Given the description of an element on the screen output the (x, y) to click on. 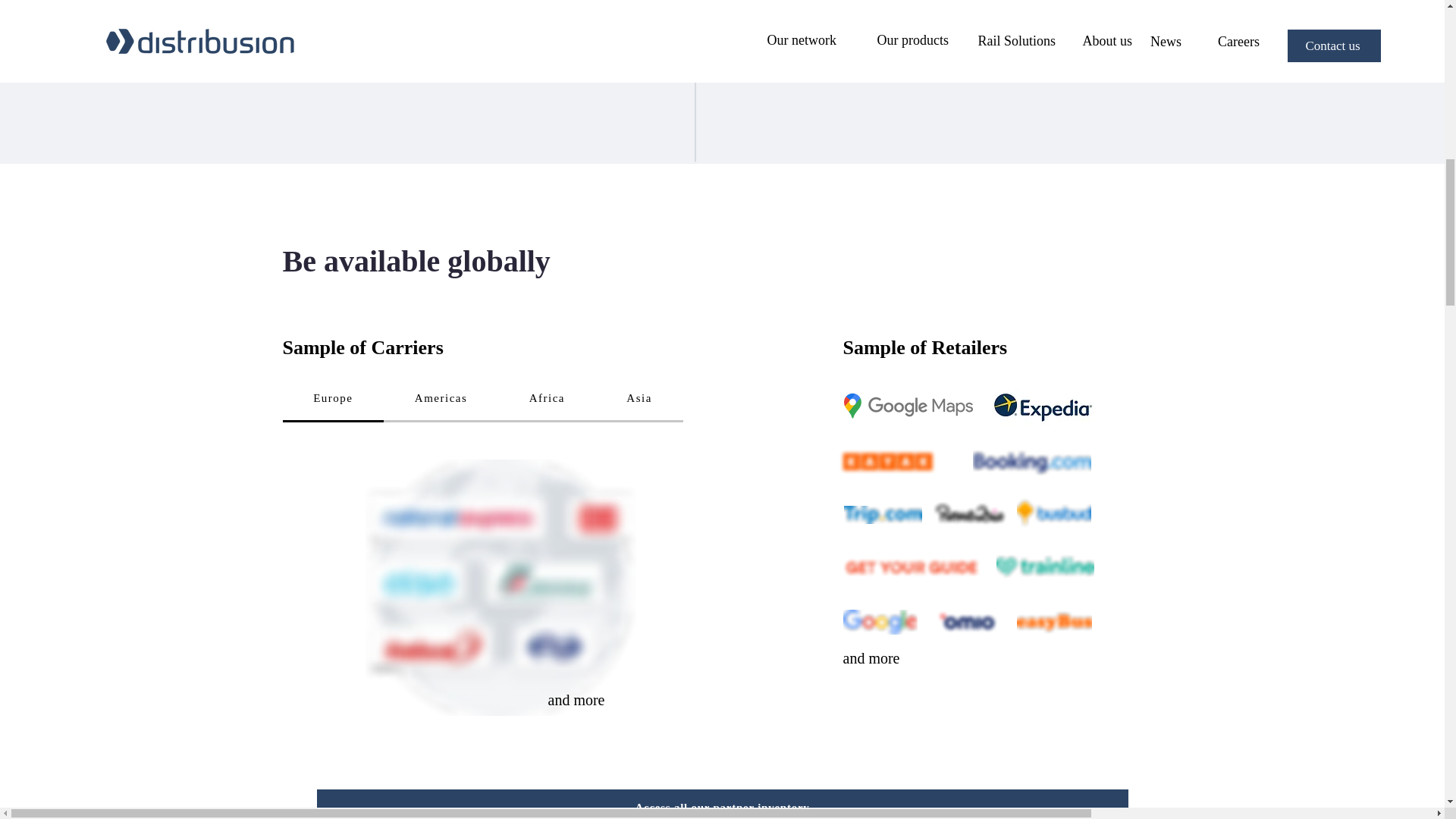
trip.com (882, 515)
Access all our partner inventory (722, 804)
getyourguide (912, 567)
busbud (1053, 513)
expedia (1042, 406)
kayak (888, 461)
booking.com (1031, 462)
rome2rio (969, 514)
goolemaps (907, 406)
trainline (1044, 567)
connections.png (694, 30)
